Given the description of an element on the screen output the (x, y) to click on. 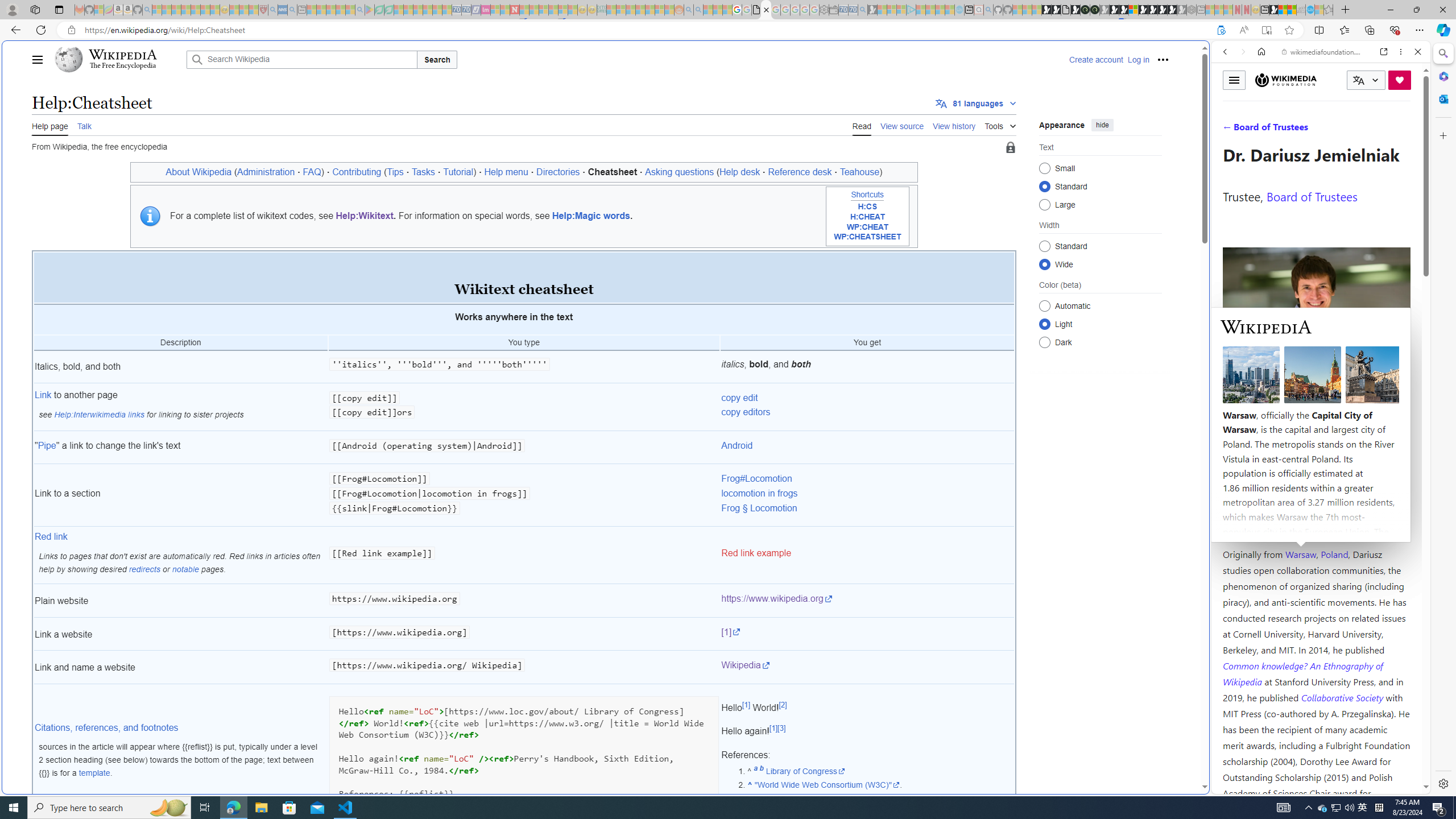
Play Cave FRVR in your browser | Games from Microsoft Start (1114, 9)
Local - MSN - Sleeping (253, 9)
Frog#Locomotion (756, 478)
Small (1044, 167)
Log in (1137, 58)
H:CHEAT (867, 216)
